Given the description of an element on the screen output the (x, y) to click on. 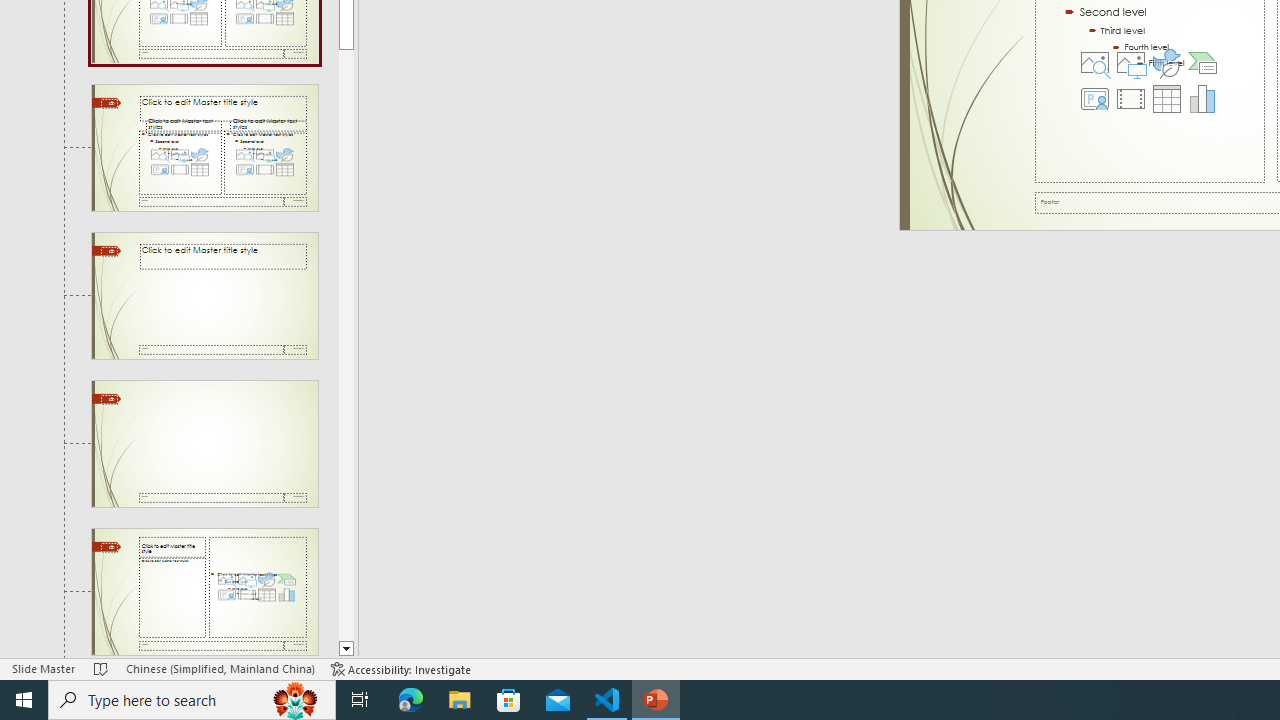
Pictures (1130, 62)
